Given the description of an element on the screen output the (x, y) to click on. 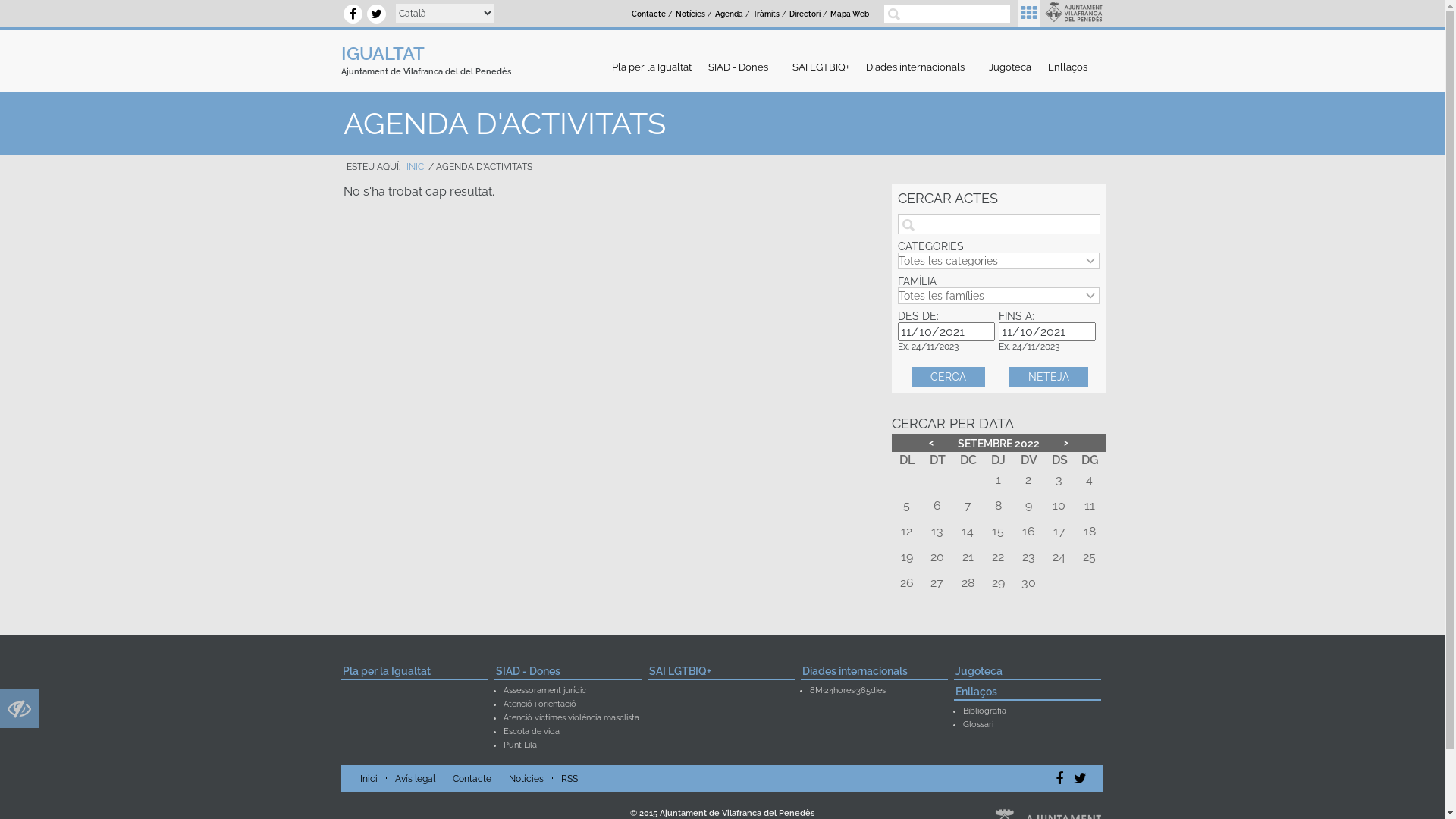
Accessibilitat Element type: hover (19, 712)
Escola de vida Element type: text (531, 731)
Jugoteca Element type: text (1027, 672)
Glossari Element type: text (978, 724)
Pla per la Igualtat Element type: text (414, 672)
SIAD - Dones Element type: text (741, 66)
SIAD - Dones Element type: text (567, 672)
IGUALTAT Element type: text (382, 53)
Inici Element type: text (368, 778)
Agenda Element type: text (729, 14)
Contacte Element type: text (471, 778)
> Element type: text (1066, 442)
INICI Element type: text (416, 166)
Contacte Element type: text (648, 14)
Pla per la Igualtat Element type: text (651, 66)
SAI LGTBIQ+ Element type: text (820, 66)
Mapa Web Element type: text (849, 14)
Directori Element type: text (804, 14)
Neteja Element type: text (1048, 376)
Jugoteca Element type: text (1010, 66)
Punt Lila Element type: text (519, 744)
Cerca Element type: text (948, 376)
Diades internacionals Element type: text (918, 66)
Diades internacionals Element type: text (873, 672)
SAI LGTBIQ+ Element type: text (720, 672)
RSS Element type: text (569, 778)
< Element type: text (931, 442)
Bibliografia Element type: text (984, 710)
